Given the description of an element on the screen output the (x, y) to click on. 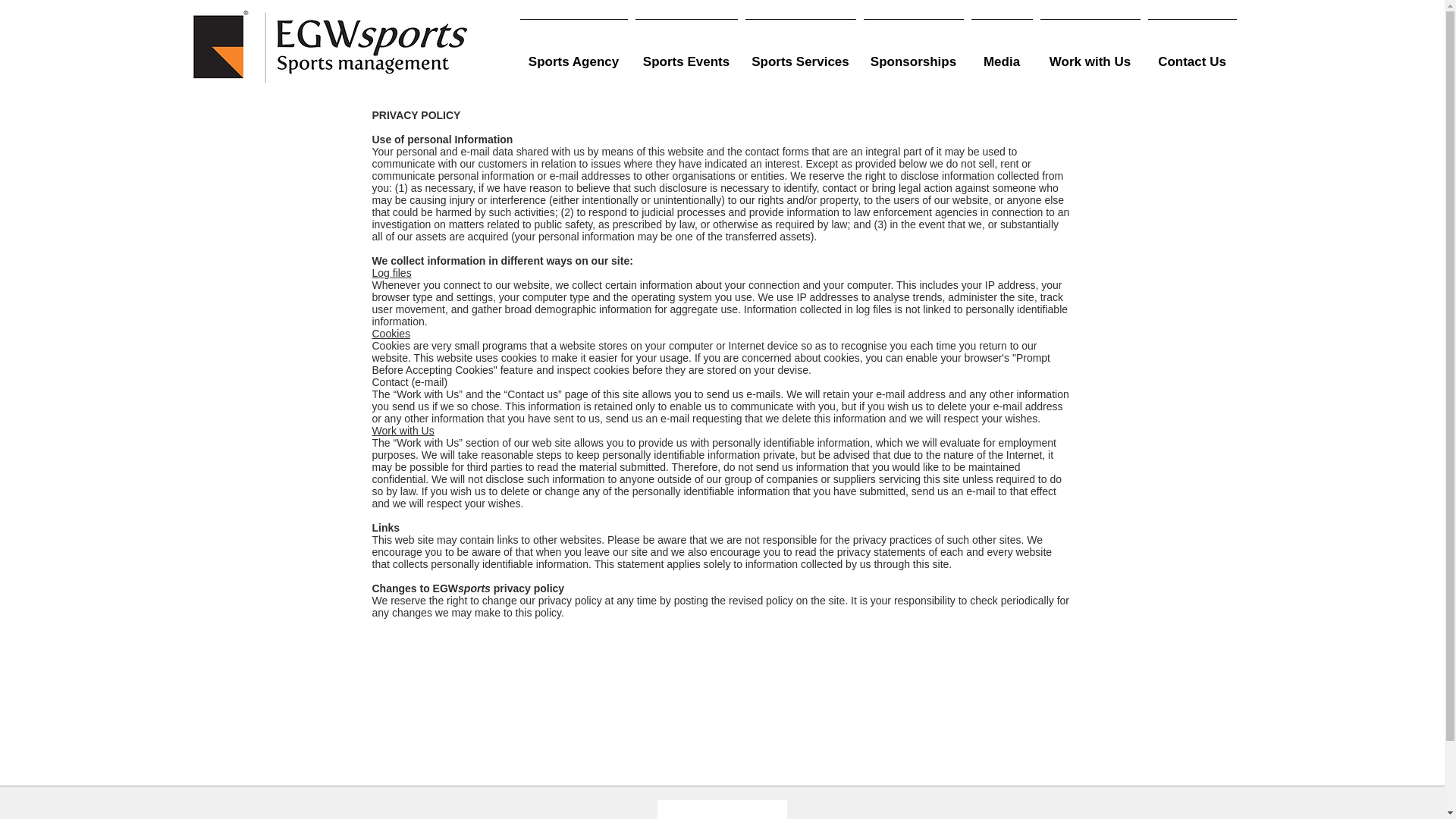
Sports Events (685, 54)
Contact Us (1191, 54)
Media (1002, 54)
Work with Us (1088, 54)
Sports Services (800, 54)
Sponsorships (914, 54)
Sports Agency (572, 54)
